Given the description of an element on the screen output the (x, y) to click on. 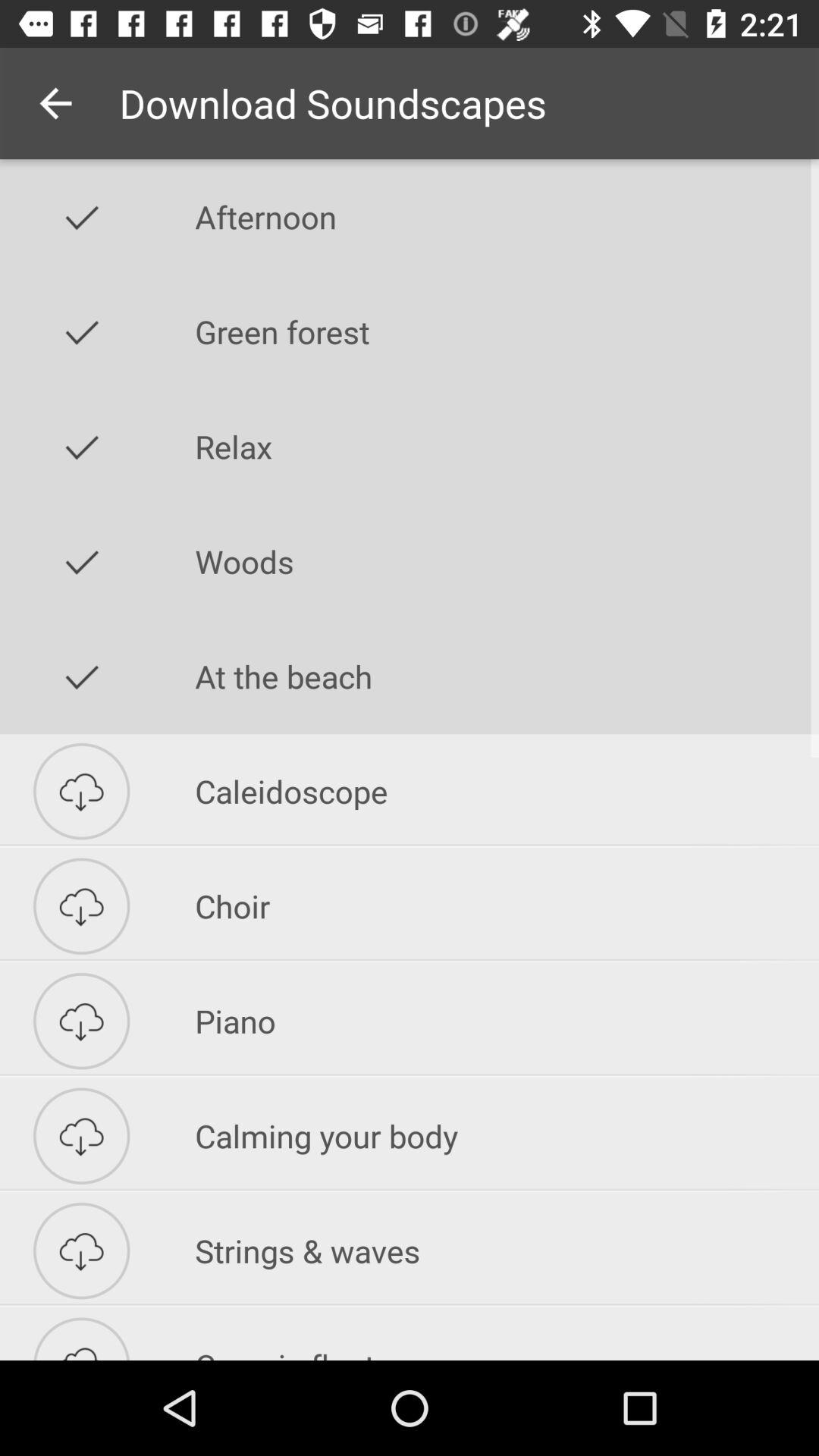
select the icon below the at the beach (507, 791)
